Given the description of an element on the screen output the (x, y) to click on. 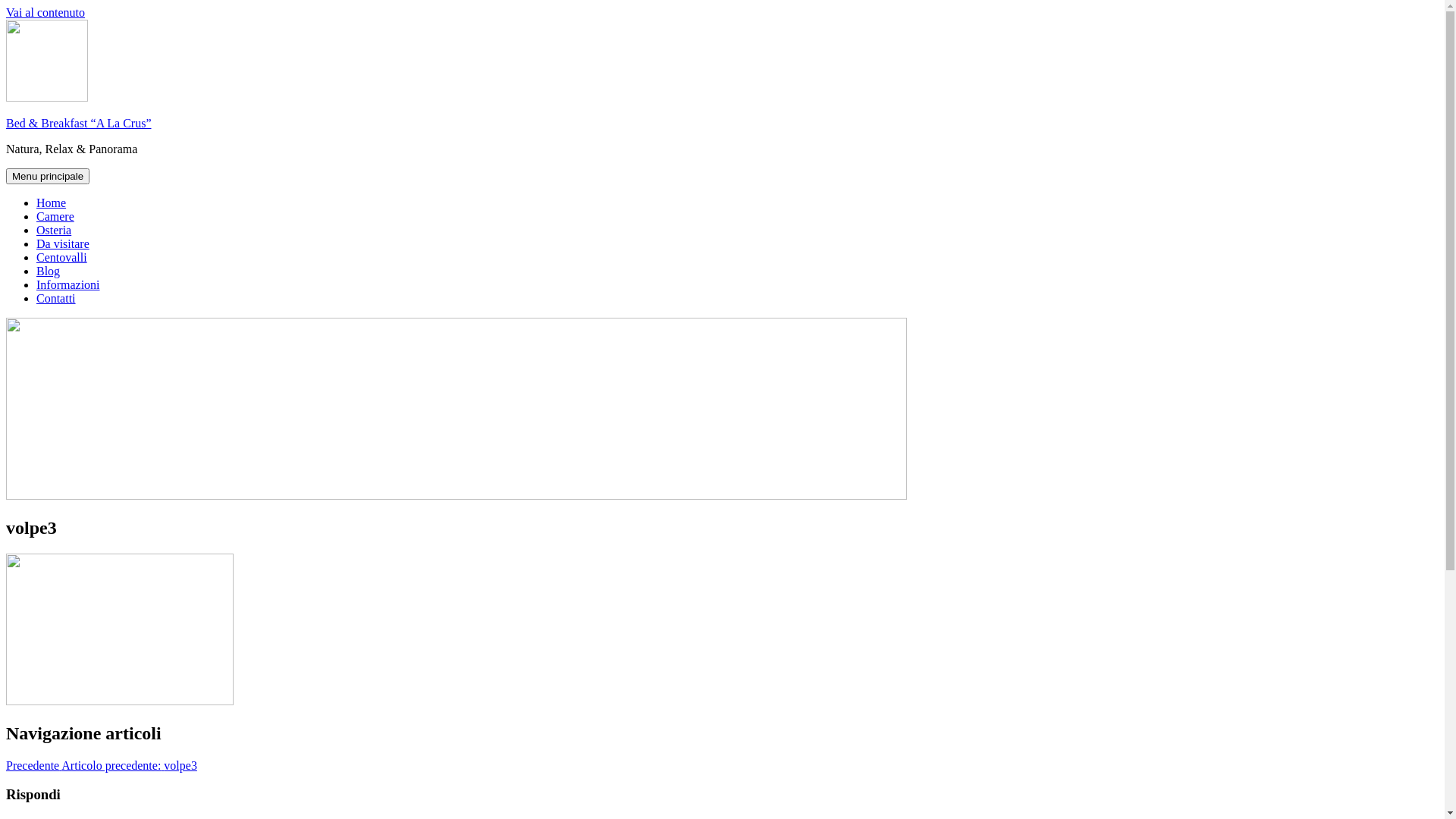
Contatti Element type: text (55, 297)
Centovalli Element type: text (61, 257)
Da visitare Element type: text (62, 243)
Precedente Articolo precedente: volpe3 Element type: text (101, 765)
Camere Element type: text (55, 216)
Home Element type: text (50, 202)
Vai al contenuto Element type: text (45, 12)
Informazioni Element type: text (68, 284)
Menu principale Element type: text (47, 176)
Blog Element type: text (47, 270)
Osteria Element type: text (53, 229)
